Given the description of an element on the screen output the (x, y) to click on. 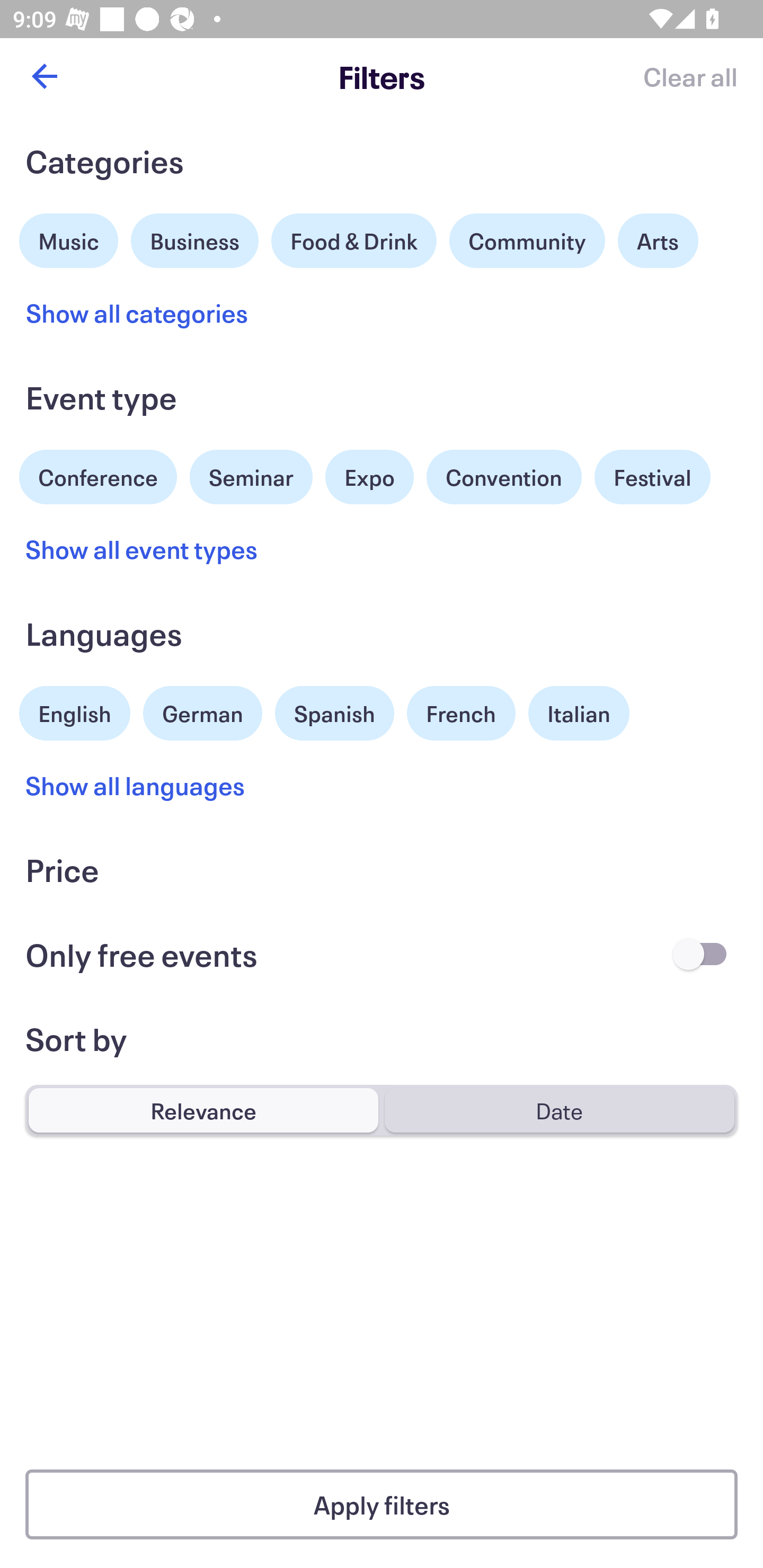
Back button (44, 75)
Clear all (690, 75)
Music (68, 238)
Business (194, 238)
Food & Drink (353, 240)
Community (527, 240)
Arts (658, 240)
Show all categories (136, 312)
Conference (98, 475)
Seminar (250, 477)
Expo (369, 477)
Convention (503, 477)
Festival (652, 477)
Show all event types (141, 548)
English (74, 710)
German (202, 710)
Spanish (334, 713)
French (460, 713)
Italian (578, 713)
Show all languages (135, 784)
Relevance (203, 1109)
Date (559, 1109)
Apply filters (381, 1504)
